Given the description of an element on the screen output the (x, y) to click on. 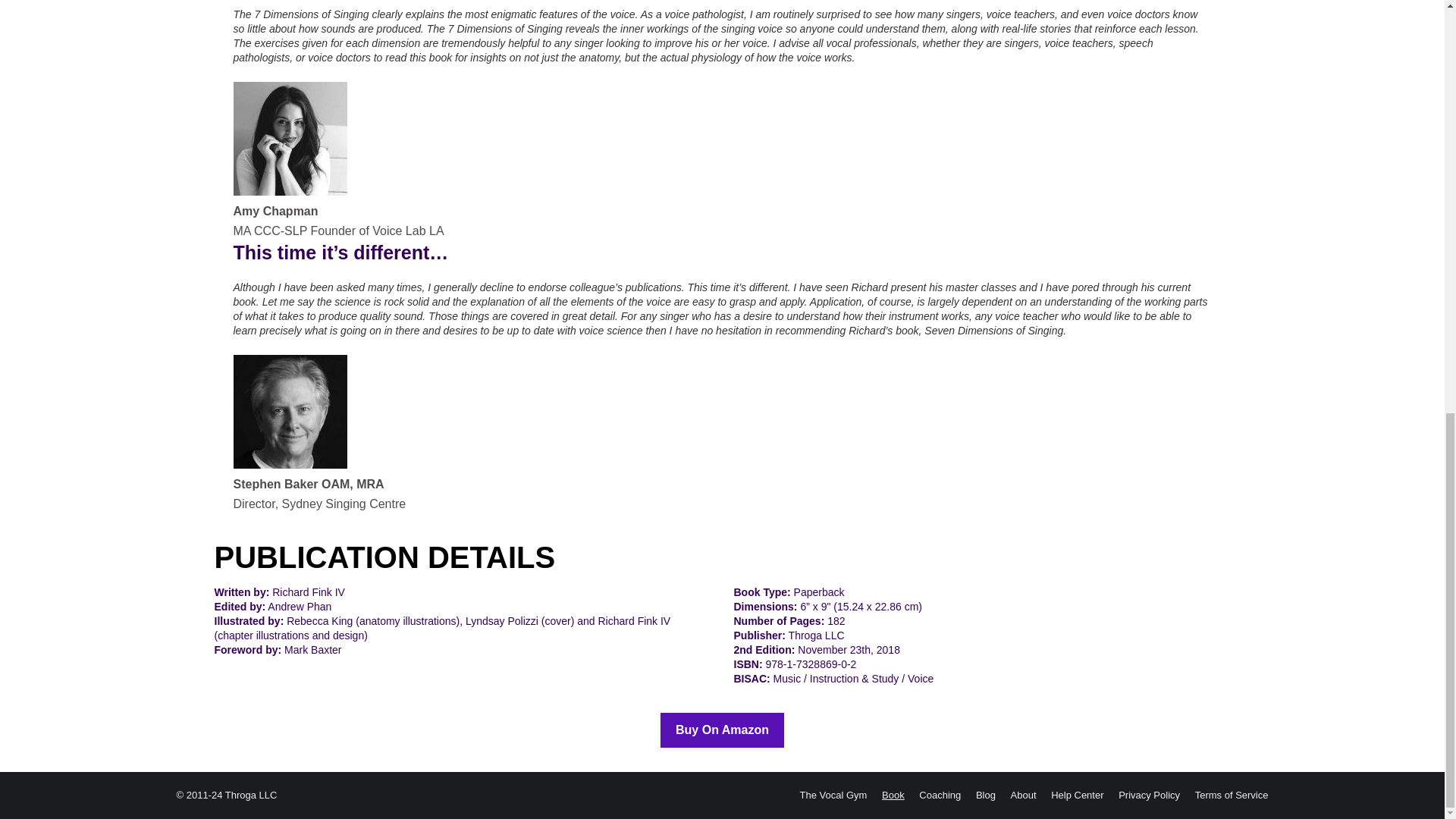
About (1023, 794)
Book (893, 794)
Terms of Service (1231, 794)
Blog (985, 794)
Buy On Amazon (722, 729)
Help Center (1077, 794)
Coaching (939, 794)
Privacy Policy (1148, 794)
The Vocal Gym (833, 794)
